Given the description of an element on the screen output the (x, y) to click on. 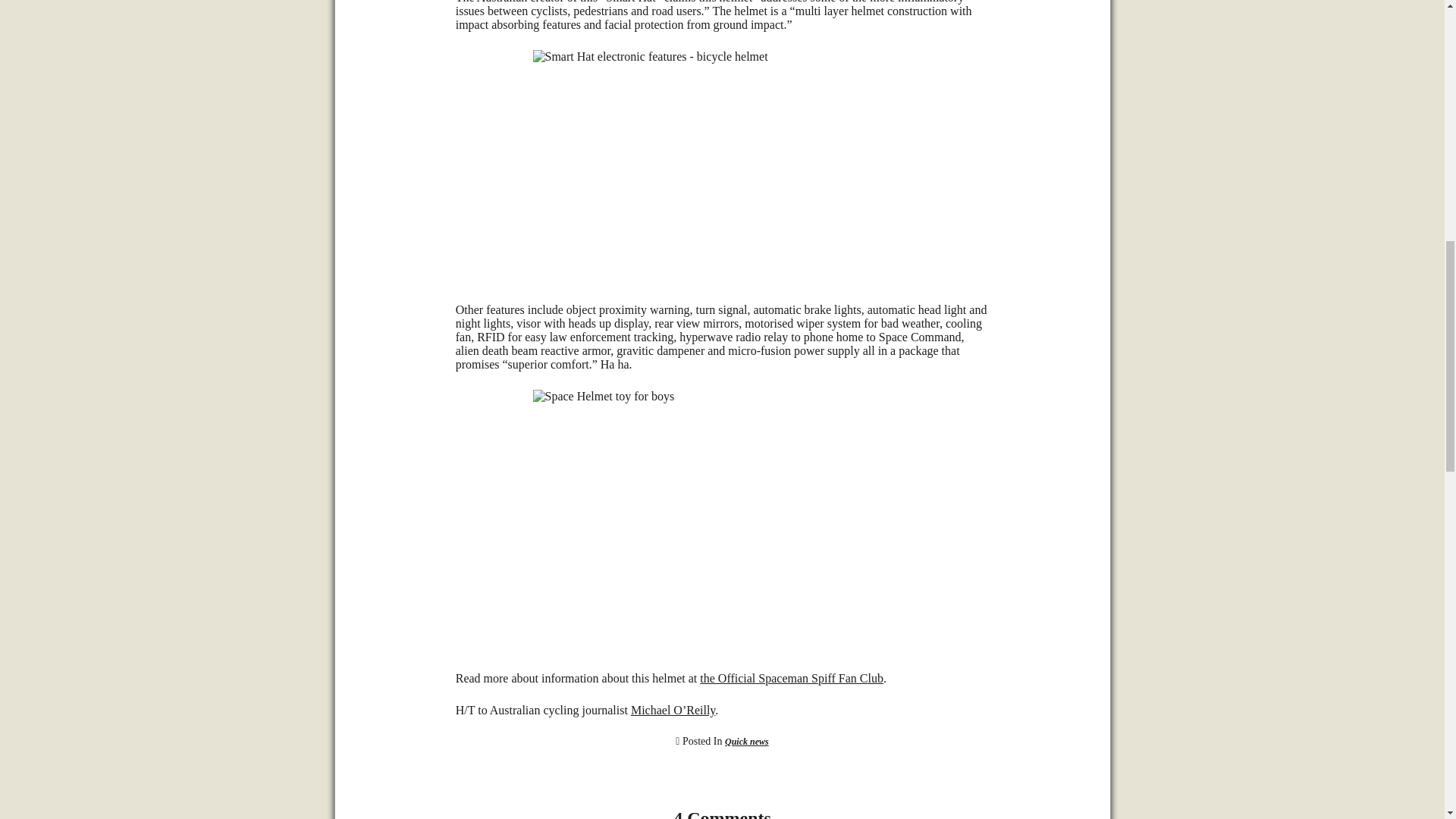
the Official Spaceman Spiff Fan Club (791, 677)
Quick news (746, 741)
